Given the description of an element on the screen output the (x, y) to click on. 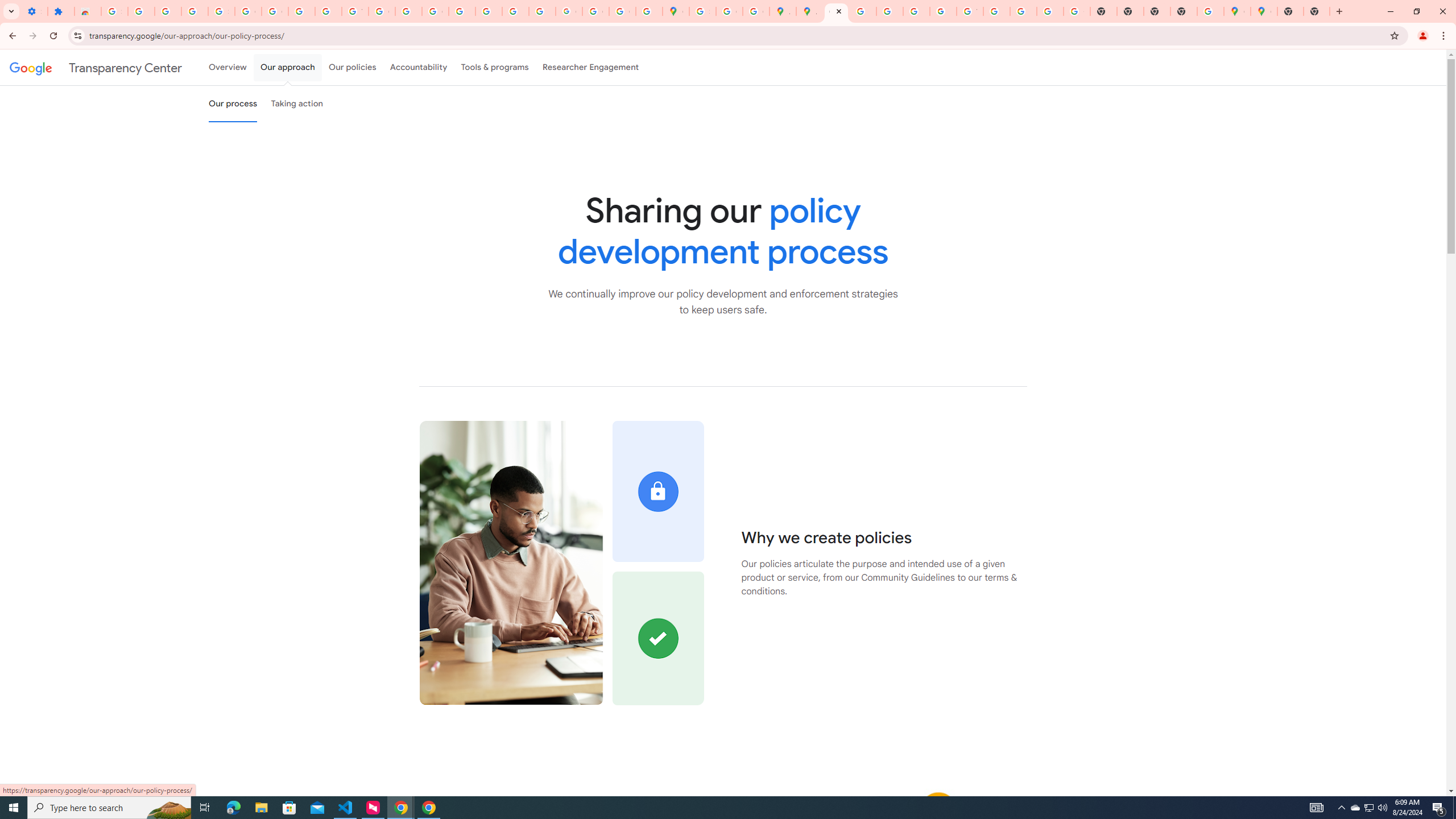
Transparency Center (95, 67)
Taking action (296, 103)
Sign in - Google Accounts (114, 11)
Tools & programs (494, 67)
Google Maps (676, 11)
Privacy Help Center - Policies Help (862, 11)
